Given the description of an element on the screen output the (x, y) to click on. 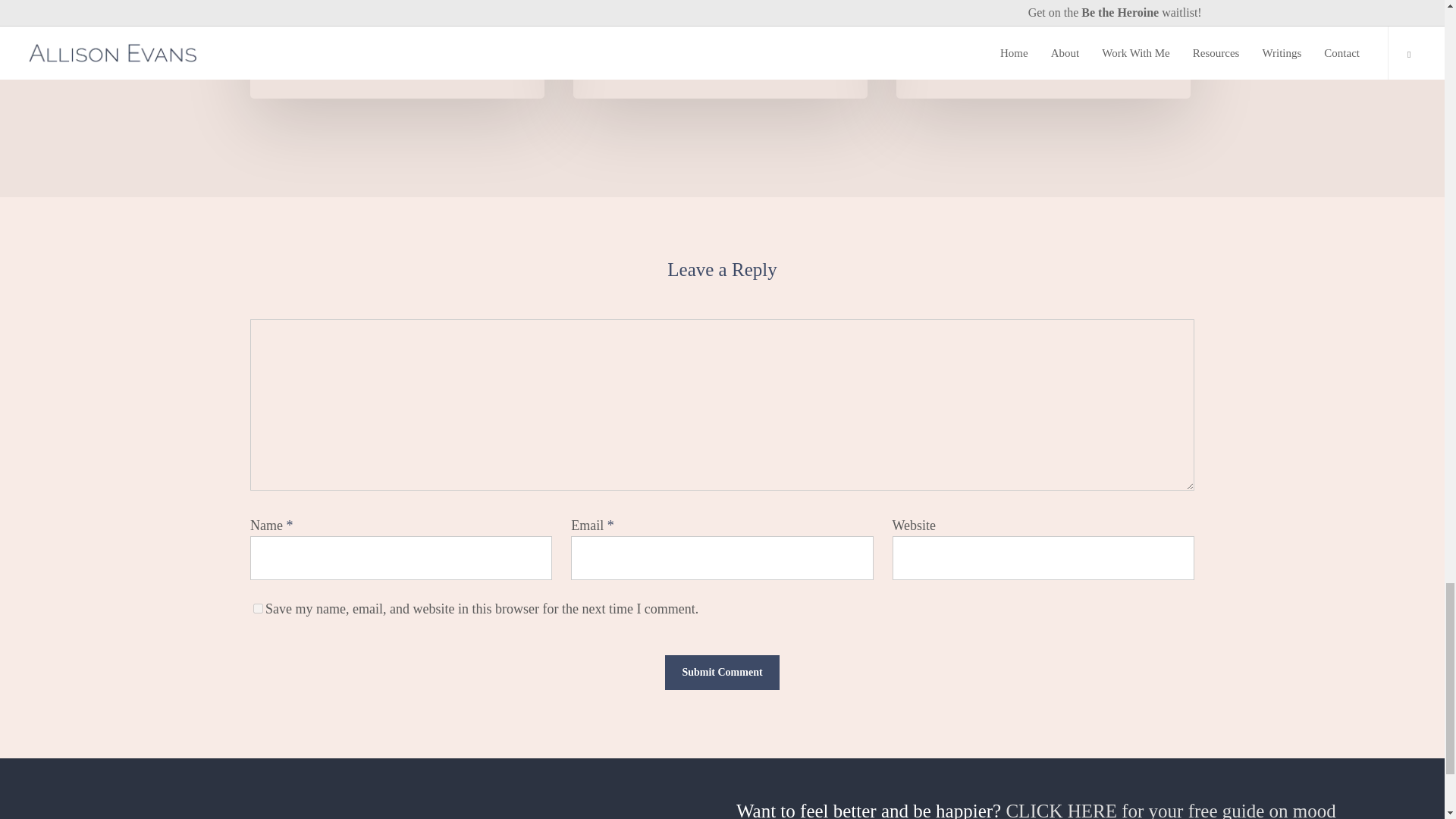
Submit Comment (721, 672)
yes (258, 608)
